Given the description of an element on the screen output the (x, y) to click on. 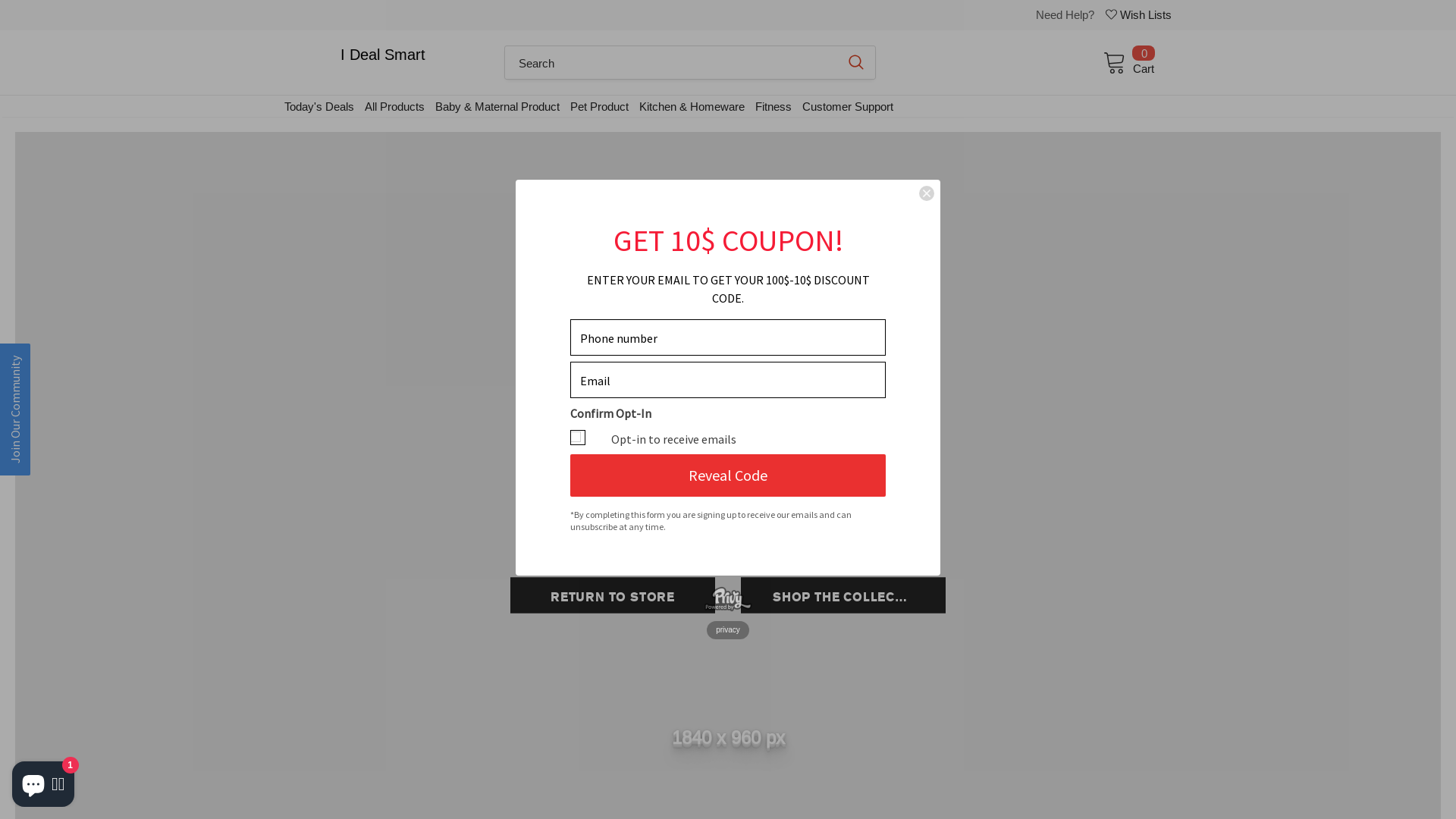
All Products Element type: text (389, 106)
Close Element type: hover (926, 192)
RETURN TO STORE Element type: text (607, 594)
I Deal Smart Element type: text (377, 53)
Pet Product Element type: text (593, 106)
Kitchen & Homeware Element type: text (686, 106)
Need Help? Element type: text (1058, 14)
Baby & Maternal Product Element type: text (491, 106)
SHOP THE COLLECTIONS Element type: text (837, 594)
Today'S Deals Element type: text (313, 106)
Wish Lists Element type: text (1132, 17)
0
Cart Element type: text (1122, 61)
Customer Support Element type: text (841, 106)
Fitness Element type: text (767, 106)
